Given the description of an element on the screen output the (x, y) to click on. 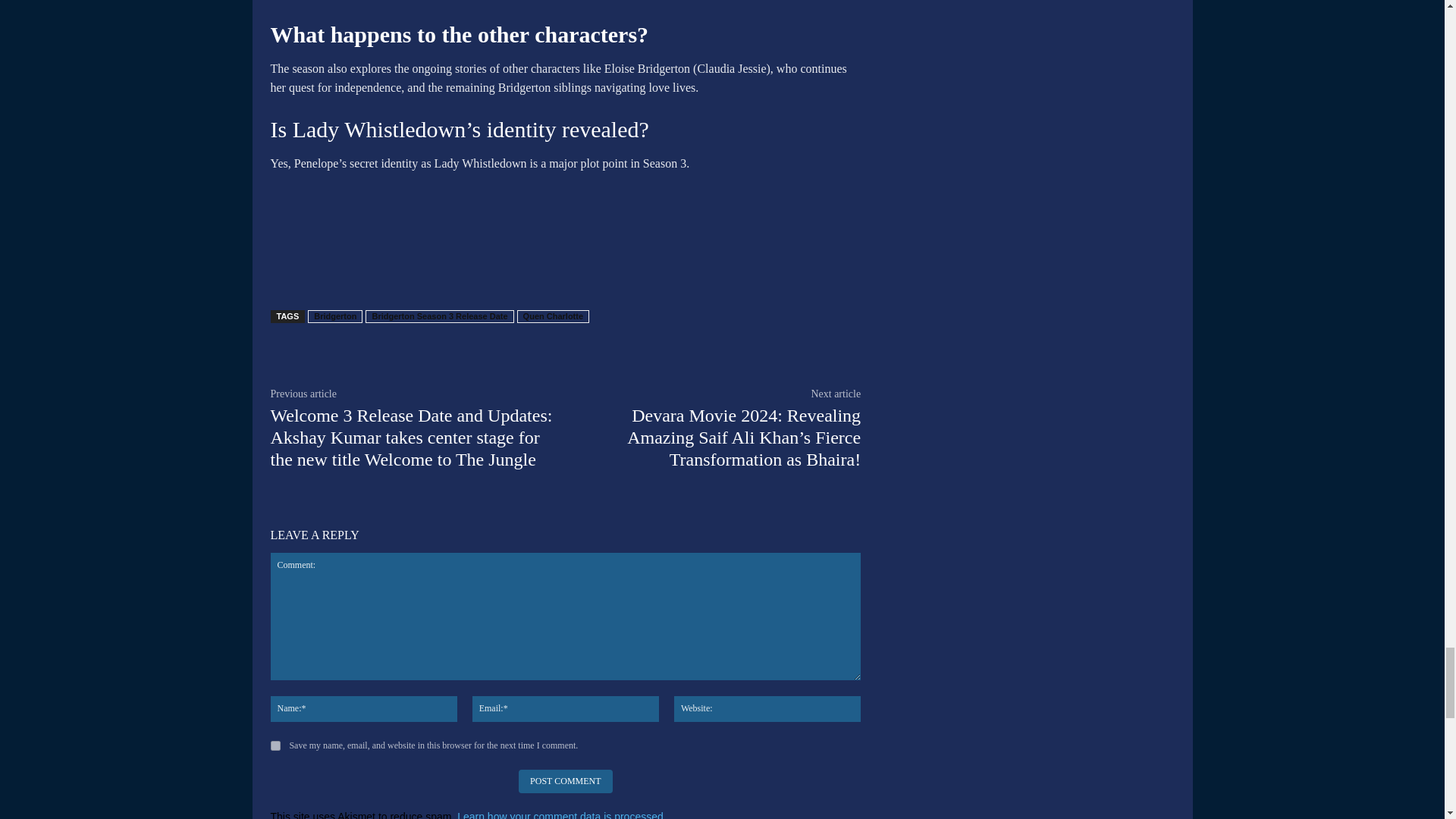
Post Comment (564, 781)
yes (274, 746)
